Given the description of an element on the screen output the (x, y) to click on. 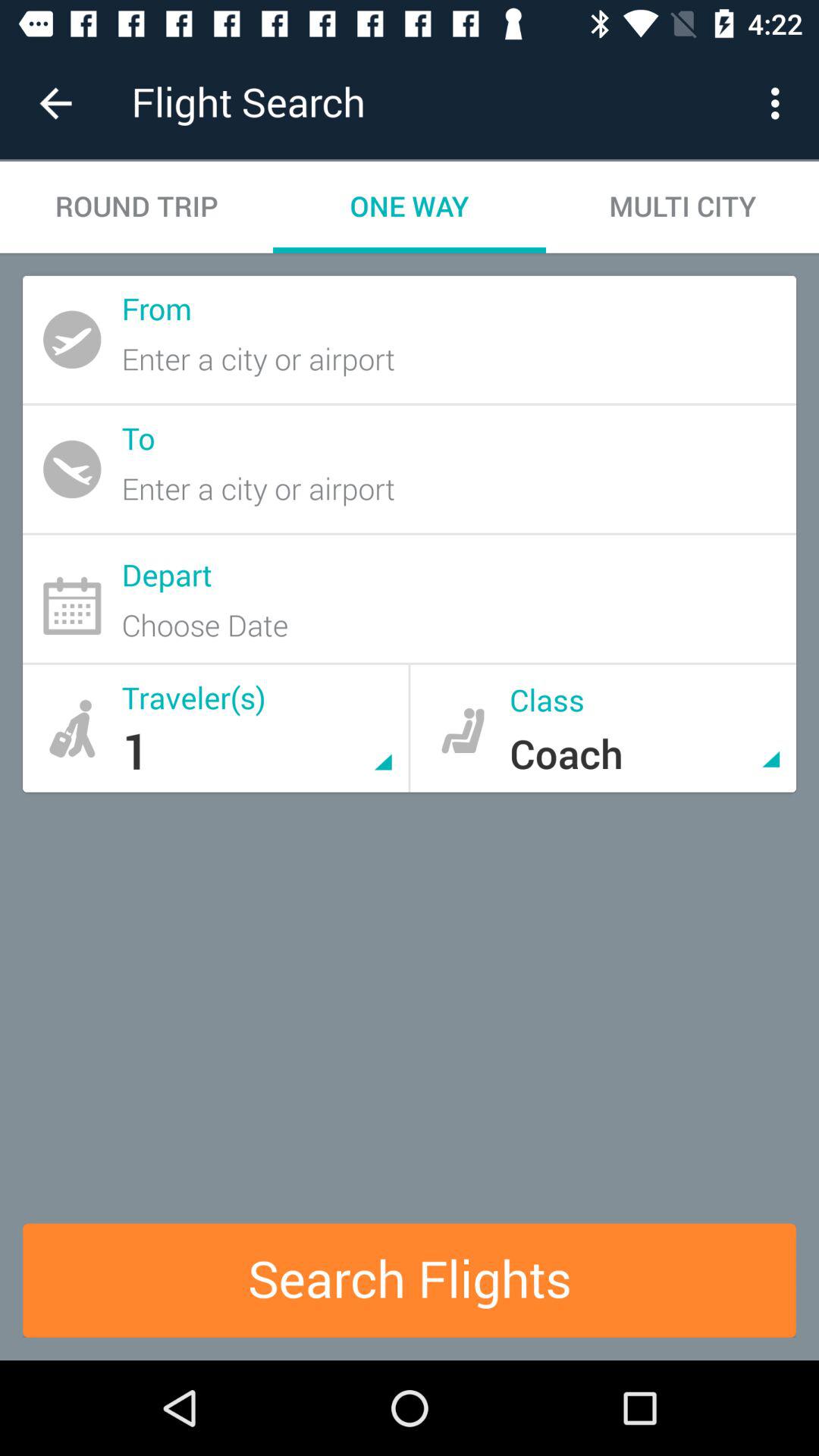
turn on item to the left of the flight search icon (55, 103)
